Given the description of an element on the screen output the (x, y) to click on. 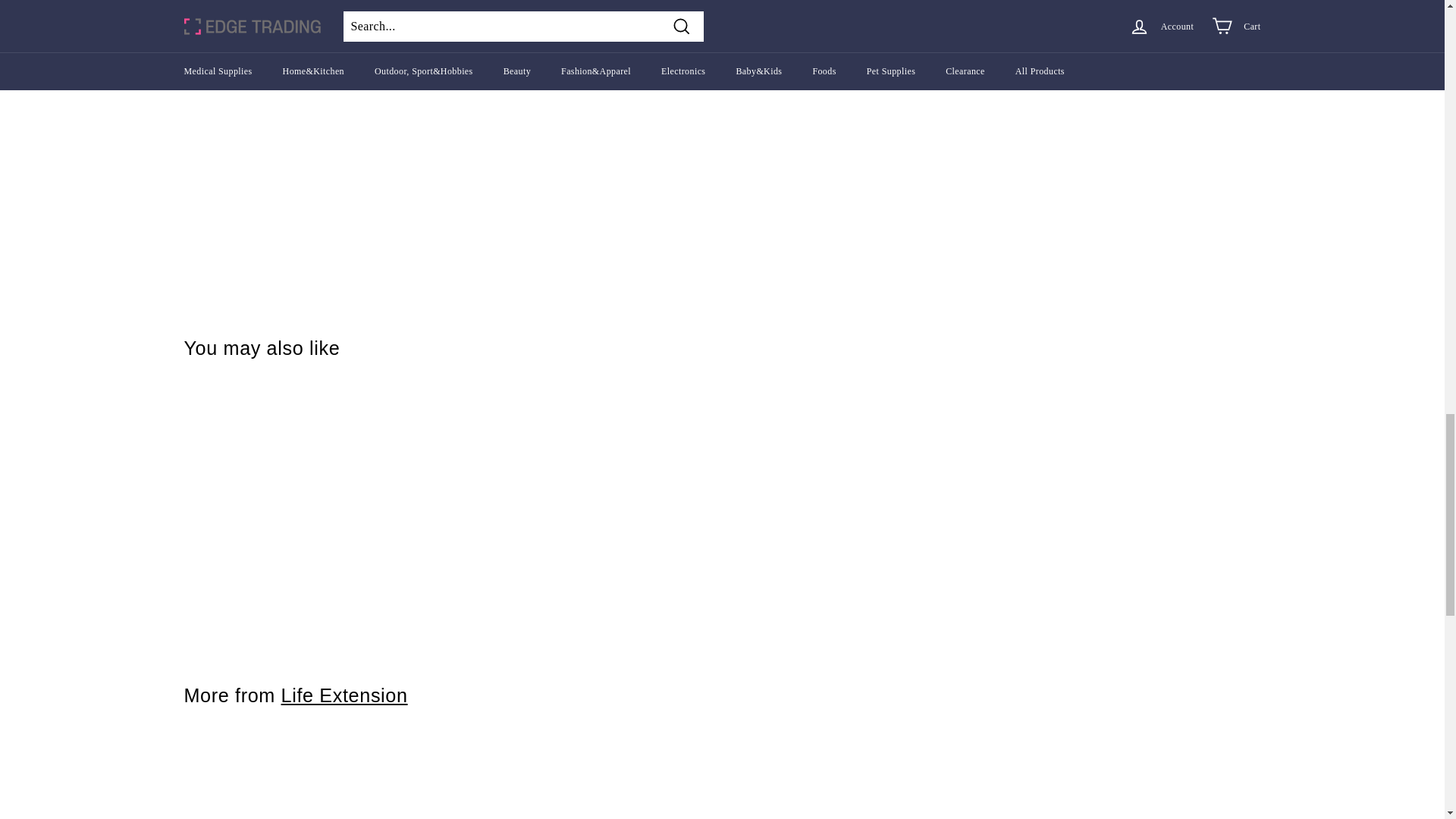
Life Extension (344, 694)
